Given the description of an element on the screen output the (x, y) to click on. 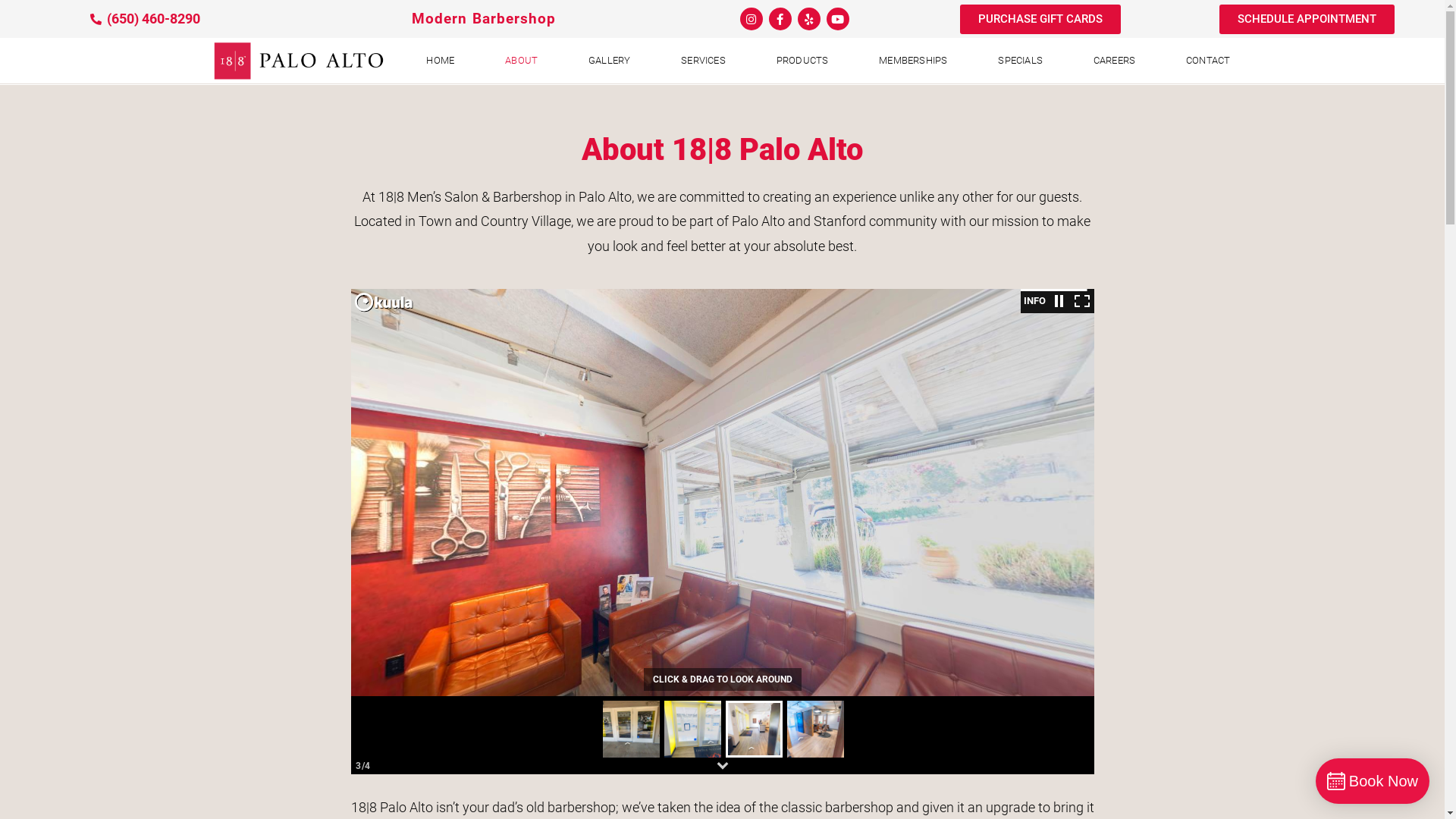
SCHEDULE APPOINTMENT Element type: text (1306, 19)
PURCHASE GIFT CARDS Element type: text (1040, 19)
CONTACT Element type: text (1207, 60)
18 Element type: hover (297, 59)
Book Now Element type: text (1372, 780)
SPECIALS Element type: text (1019, 60)
(650) 460-8290 Element type: text (144, 18)
HOME Element type: text (439, 60)
GALLERY Element type: text (608, 60)
SERVICES Element type: text (702, 60)
PRODUCTS Element type: text (801, 60)
MEMBERSHIPS Element type: text (912, 60)
CAREERS Element type: text (1113, 60)
ABOUT Element type: text (521, 60)
